Given the description of an element on the screen output the (x, y) to click on. 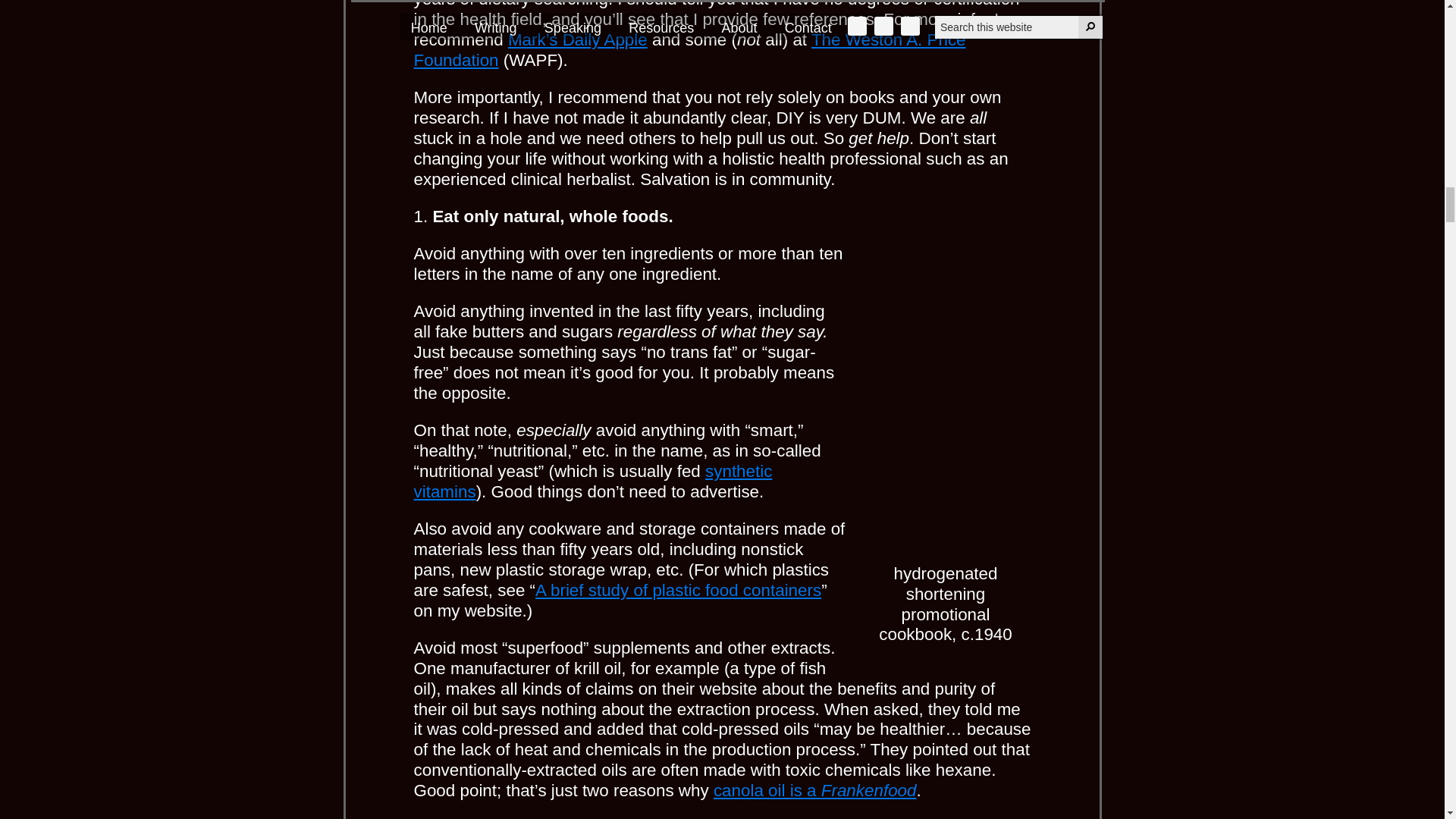
"Weston A. Price Foundation" (689, 49)
"Mark's Daily Apple" (577, 39)
Alan Muskat, "A Brief Study of Plastic Food Containers" (678, 589)
Alan Muskat, "F3, a Canola of Worms" (815, 790)
